Given the description of an element on the screen output the (x, y) to click on. 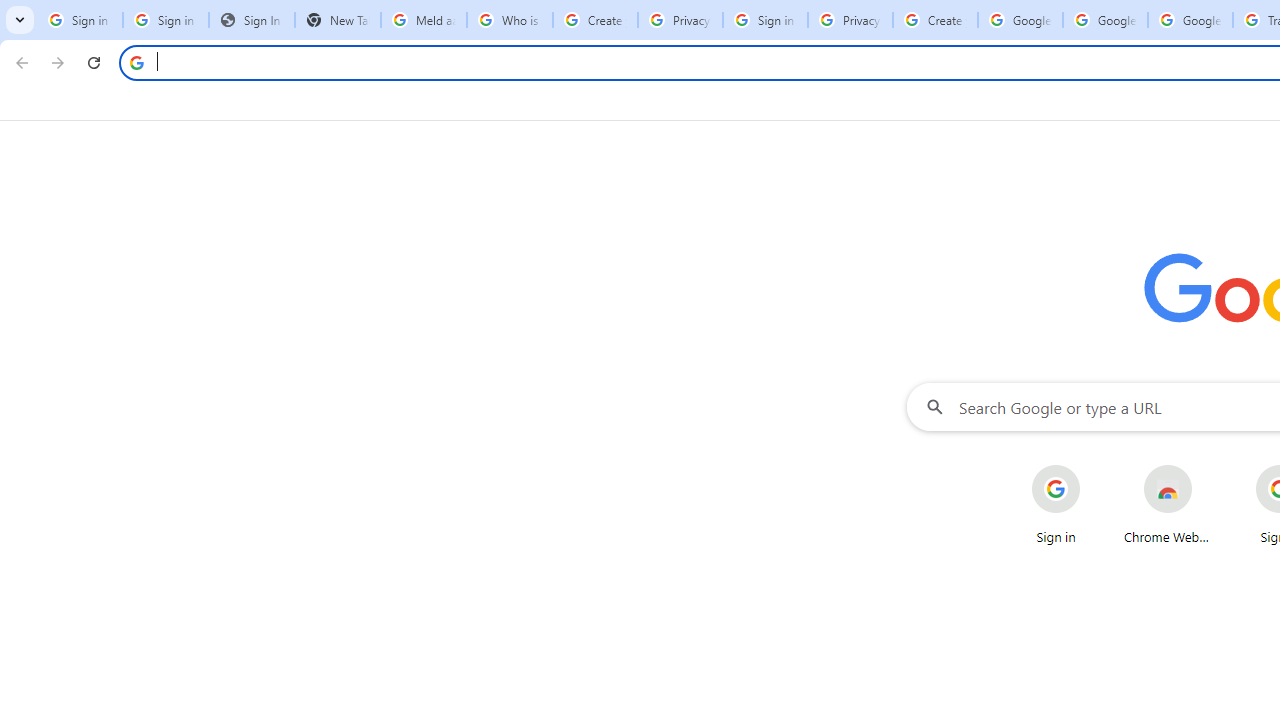
Create your Google Account (595, 20)
Who is my administrator? - Google Account Help (509, 20)
More actions for Sign in shortcut (1095, 466)
More actions for Chrome Web Store shortcut (1208, 466)
